Given the description of an element on the screen output the (x, y) to click on. 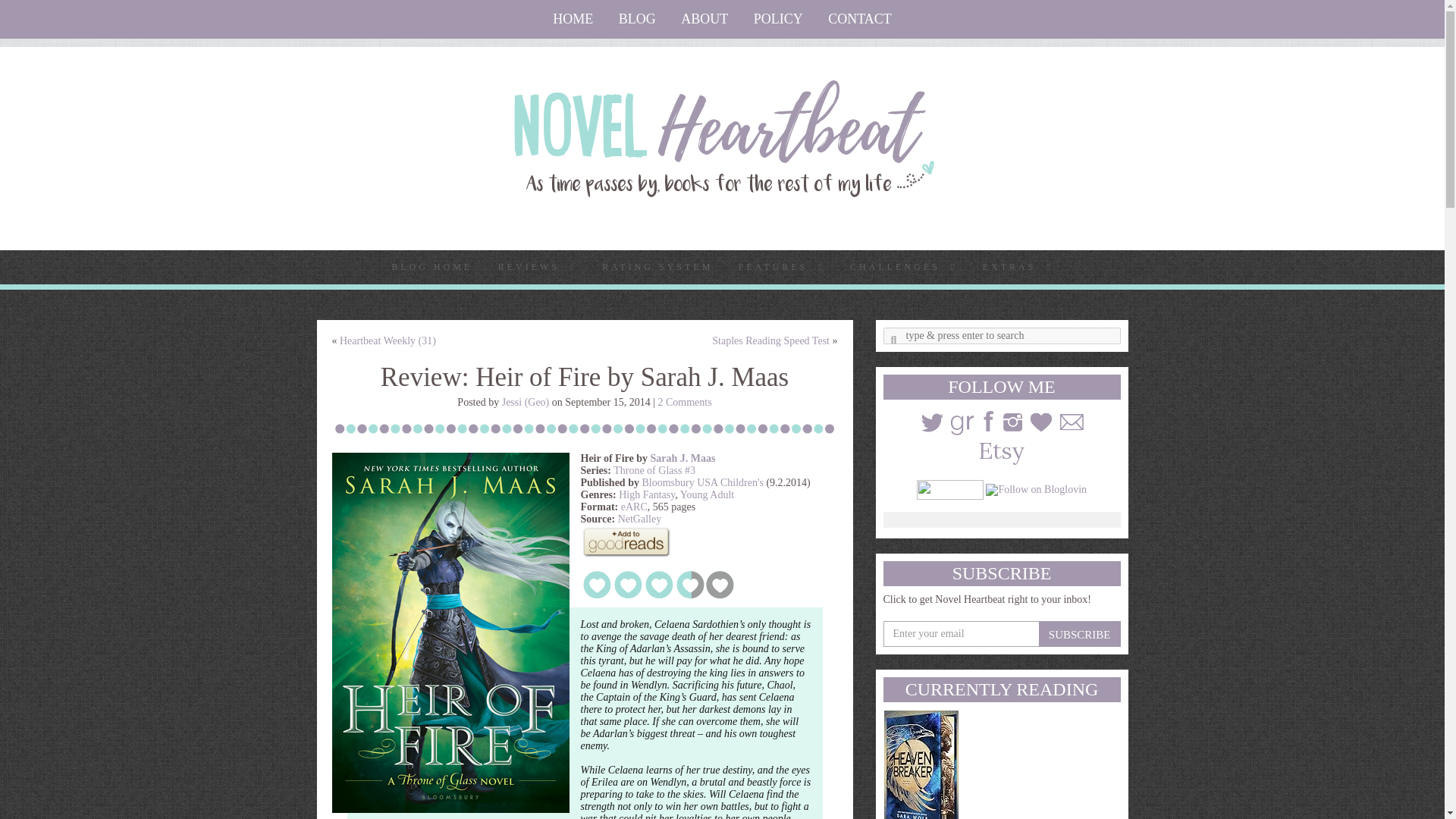
ABOUT (704, 19)
Review: Heir of Fire by Sarah J. Maas (450, 632)
CHALLENGES   (903, 267)
Follow Novel Heartbeat on Bloglovin (1035, 488)
REVIEWS   (537, 267)
FEATURES   (780, 267)
HOME (572, 19)
BLOG HOME (431, 267)
POLICY (777, 19)
Subscribe (1080, 633)
RATING SYSTEM (657, 267)
CONTACT (859, 19)
BLOG (636, 19)
